Given the description of an element on the screen output the (x, y) to click on. 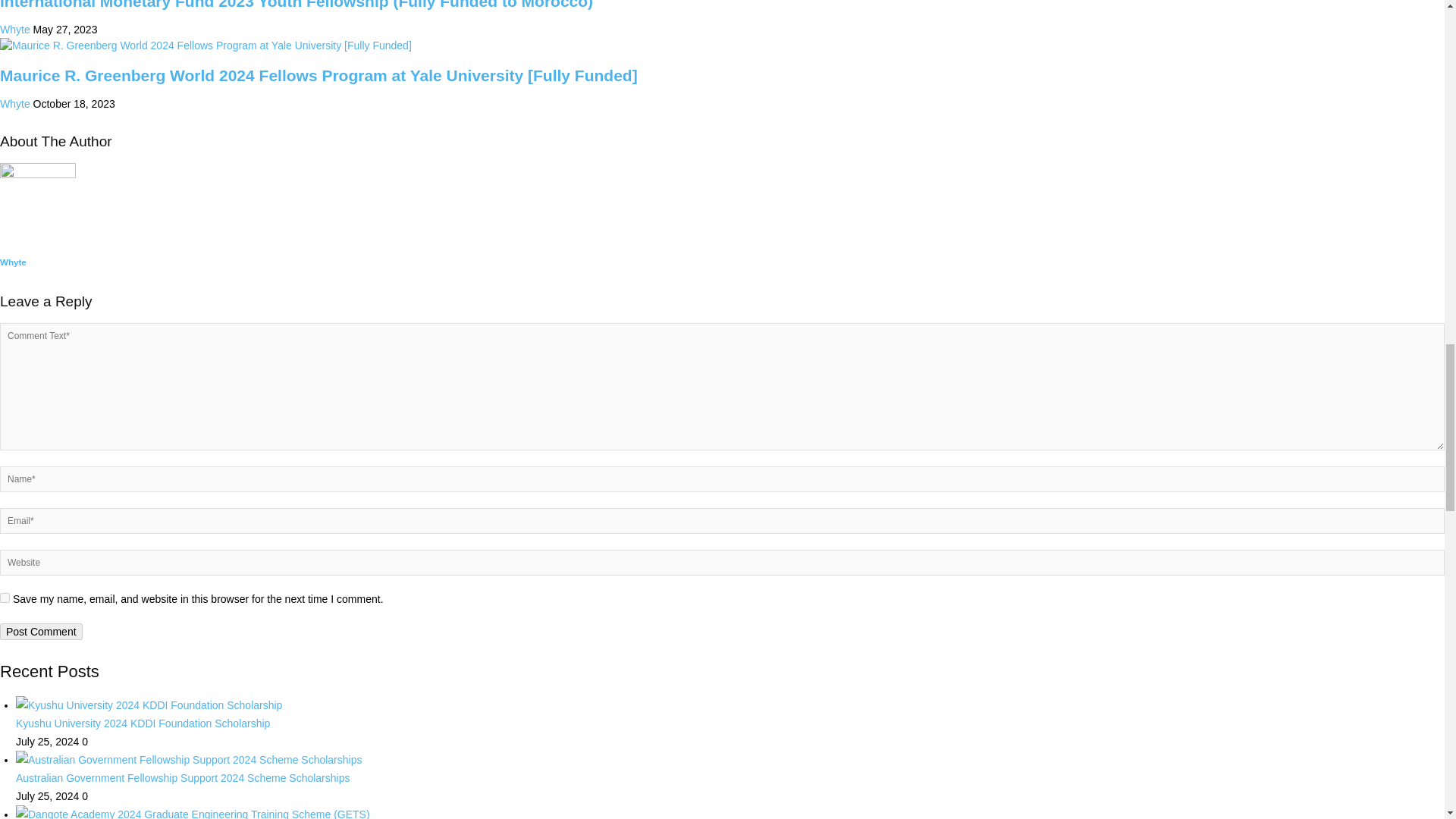
Kyushu University 2024 KDDI Foundation Scholarship (142, 723)
Whyte (15, 29)
Post Comment (41, 631)
Whyte (15, 103)
Whyte (13, 261)
yes (5, 597)
Post Comment (41, 631)
